Given the description of an element on the screen output the (x, y) to click on. 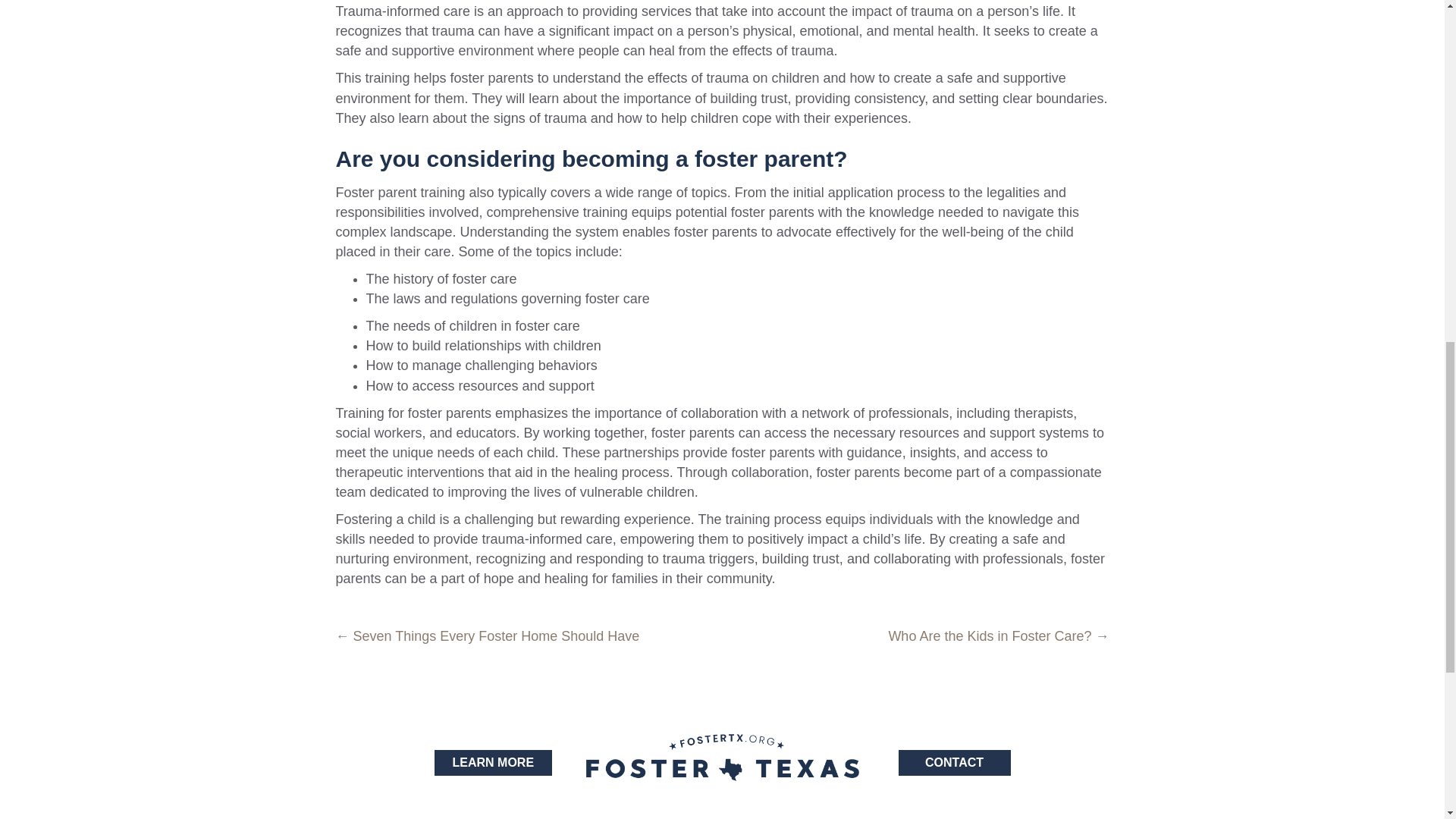
CONTACT (954, 762)
logo-foster-texas (722, 757)
LEARN MORE (492, 762)
